Given the description of an element on the screen output the (x, y) to click on. 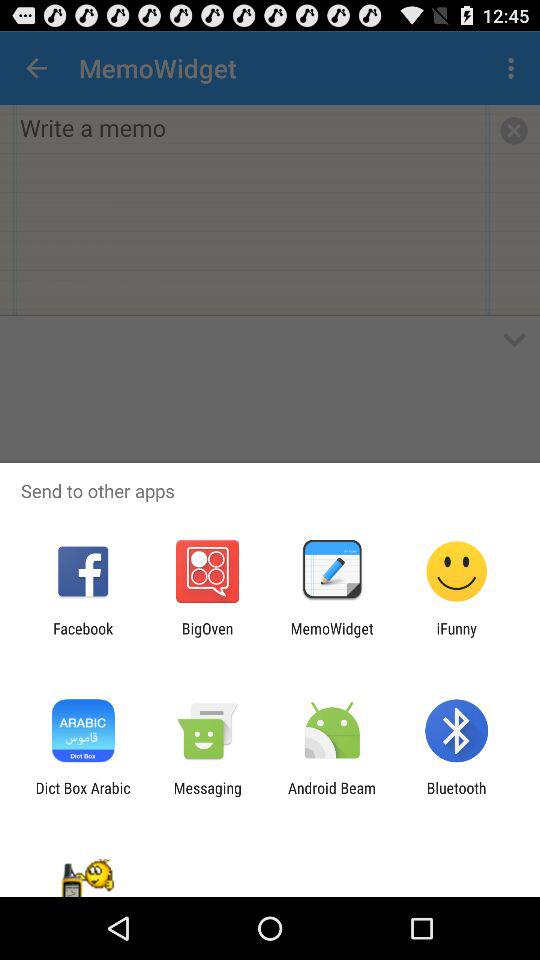
choose the icon next to messaging app (332, 796)
